Given the description of an element on the screen output the (x, y) to click on. 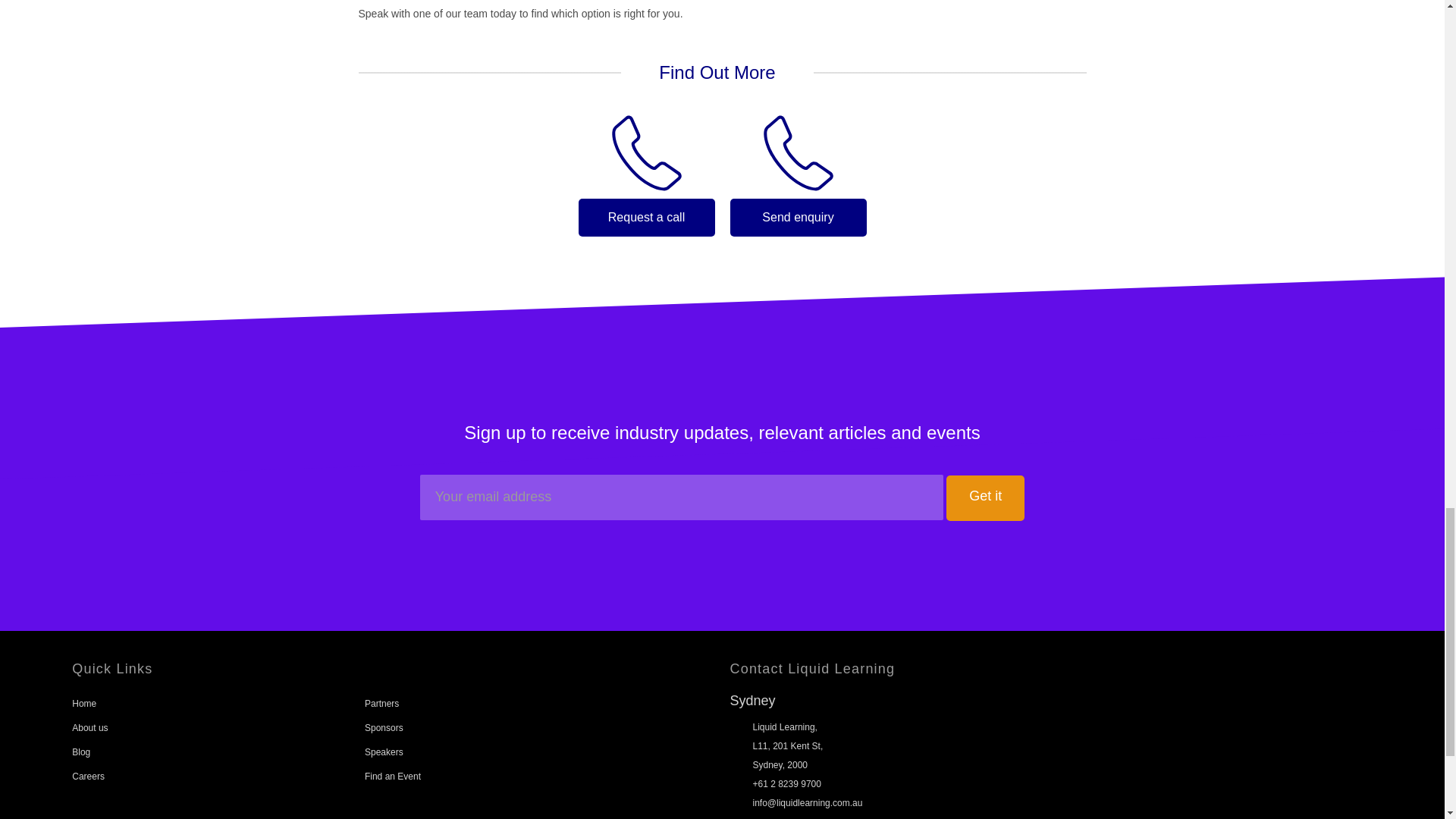
Speakers (384, 751)
About us (89, 727)
Sponsors (384, 727)
Get it (985, 497)
Blog (80, 751)
Find an Event (392, 776)
Home (83, 703)
Careers (87, 776)
Partners (381, 703)
